Given the description of an element on the screen output the (x, y) to click on. 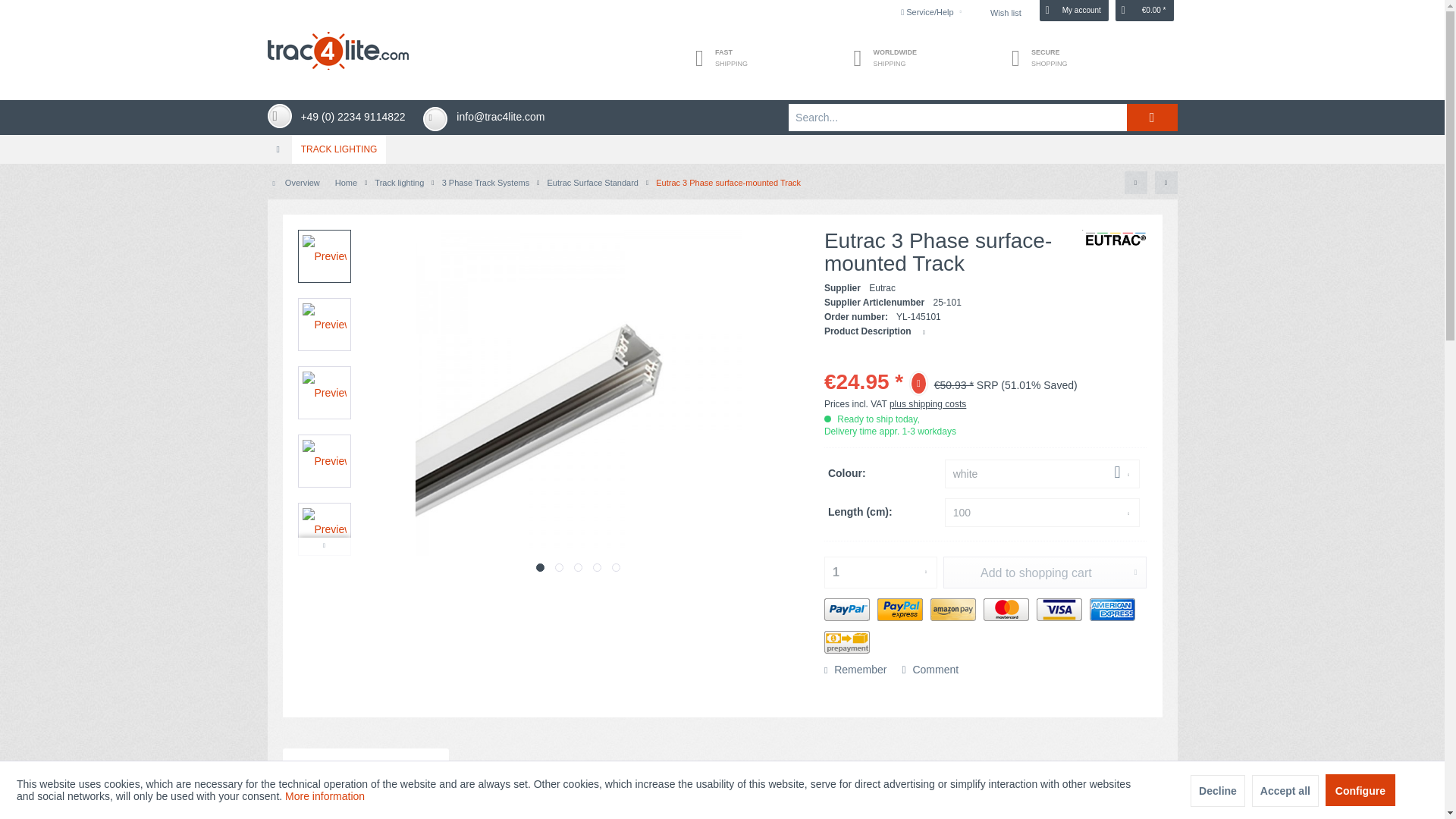
TRACK LIGHTING (722, 149)
My account (1073, 10)
TRACK LIGHTING (721, 149)
Eutrac Surface Standard (592, 182)
Shopping cart (1144, 10)
Track lighting (339, 149)
3 Phase Track Systems (486, 182)
Wish list (1005, 10)
Overview (295, 182)
TRACK LIGHTING (339, 149)
